Given the description of an element on the screen output the (x, y) to click on. 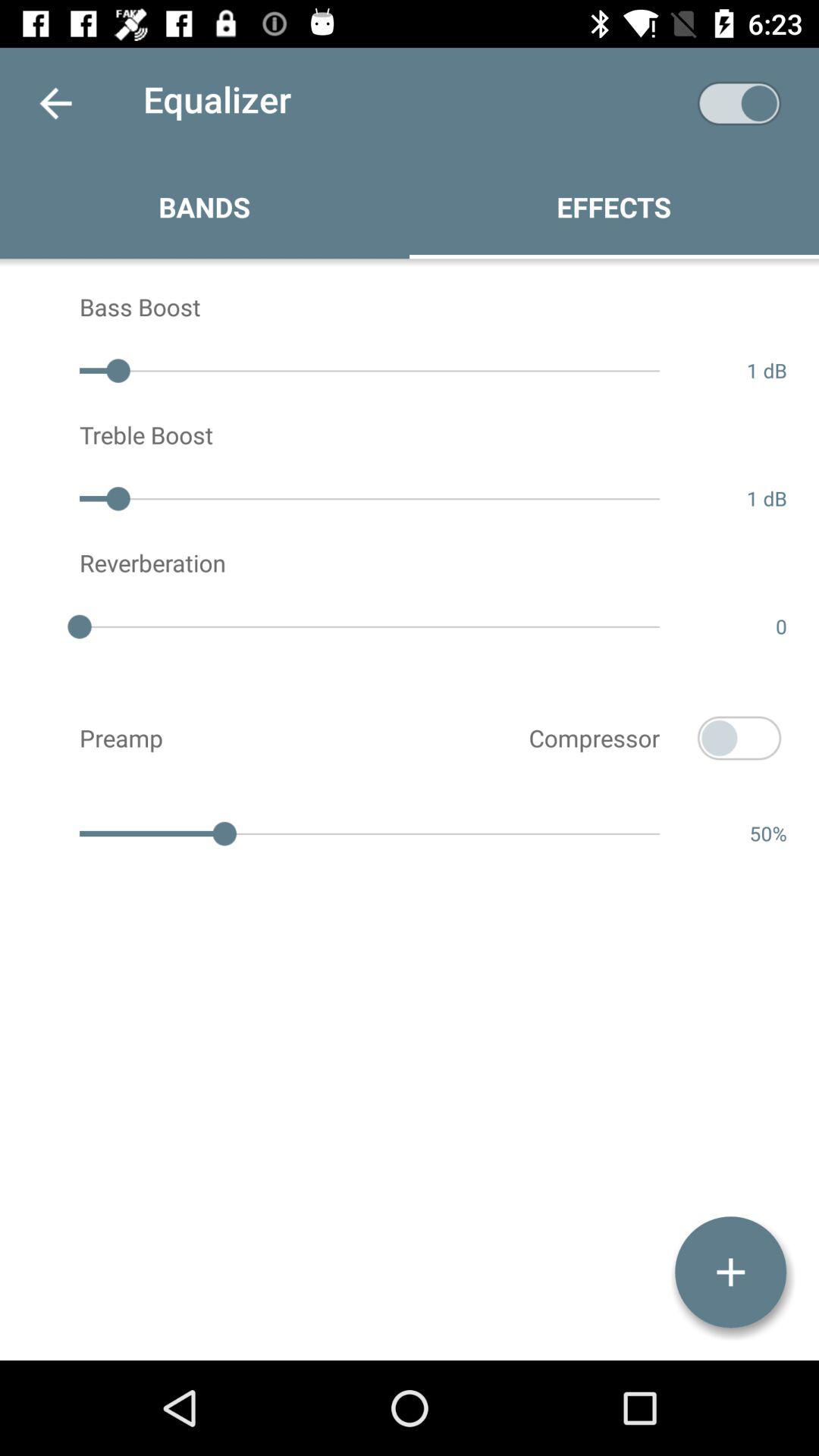
open the item to the right of the compressor (739, 738)
